Given the description of an element on the screen output the (x, y) to click on. 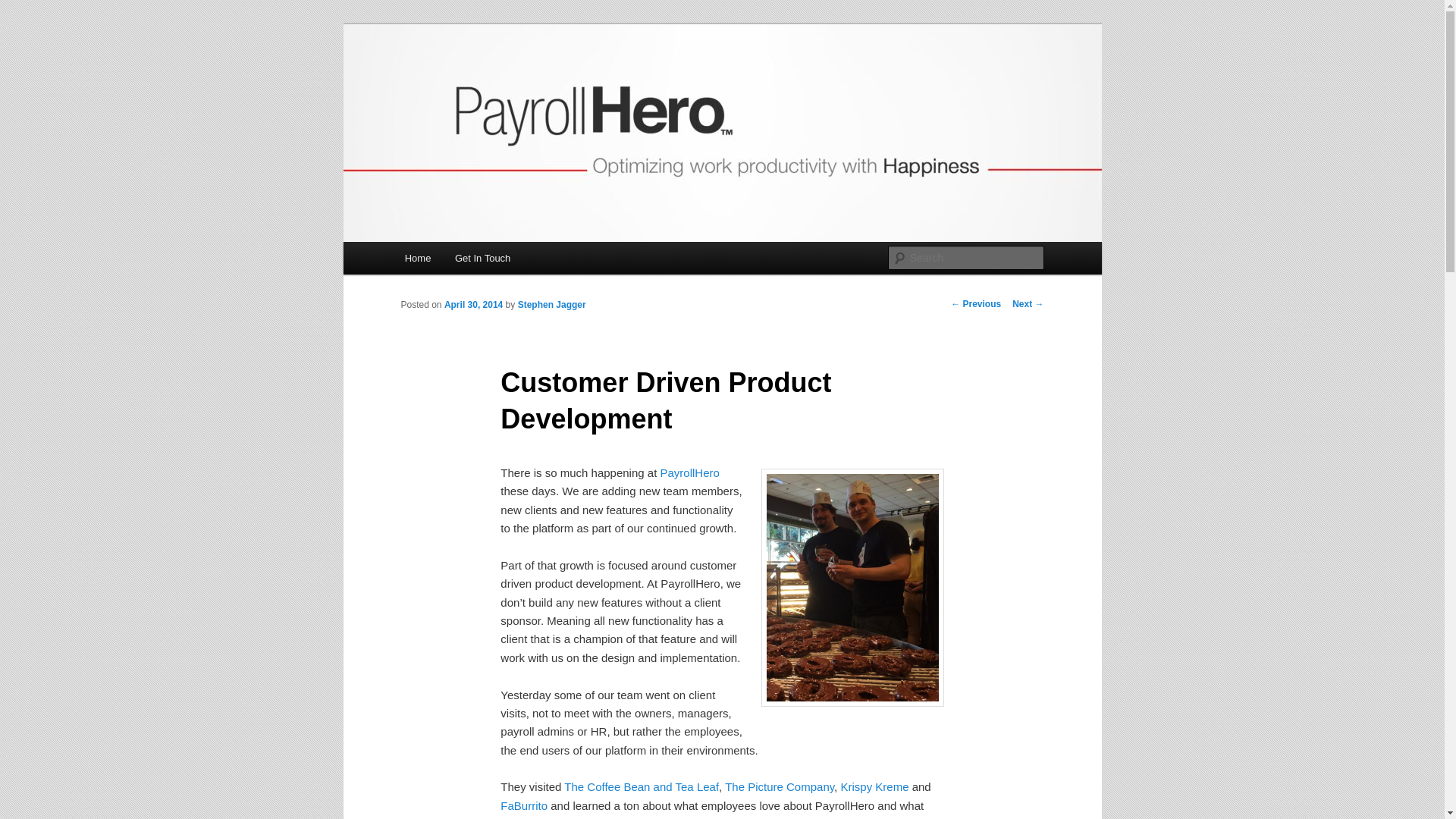
Get In Touch (482, 257)
Krispy Kreme (874, 786)
PayrollHero (689, 472)
FaBurrito (523, 805)
Search (24, 8)
Home (417, 257)
Stephen Jagger (552, 304)
The Coffee Bean and Tea Leaf (641, 786)
11:31 pm (473, 304)
View all posts by Stephen Jagger (552, 304)
